Given the description of an element on the screen output the (x, y) to click on. 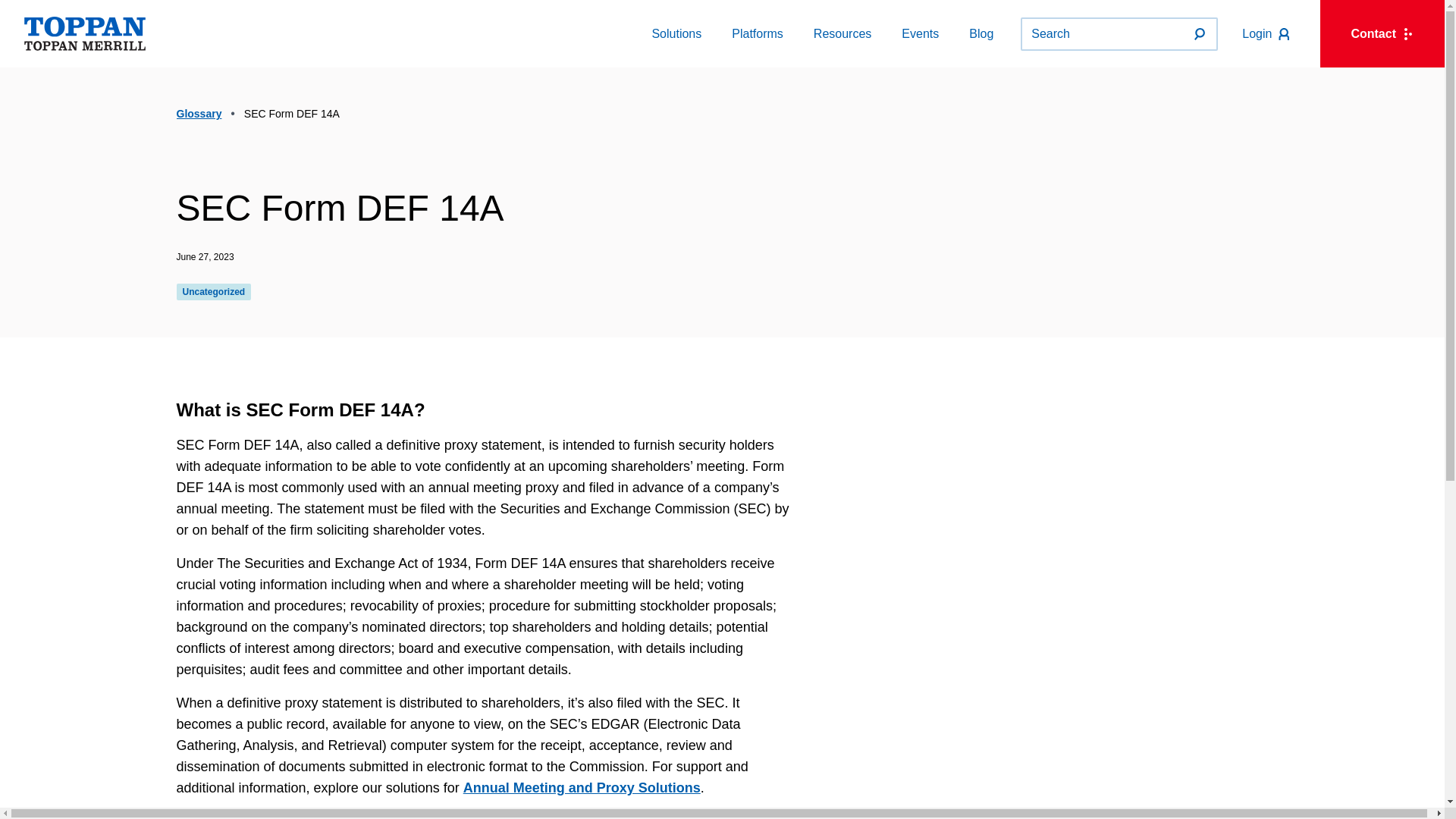
Advancing business. Expanding possible. (84, 33)
Platforms (756, 33)
Events (1265, 34)
Solutions (919, 33)
Resources (676, 33)
Skip to main content (841, 33)
